Given the description of an element on the screen output the (x, y) to click on. 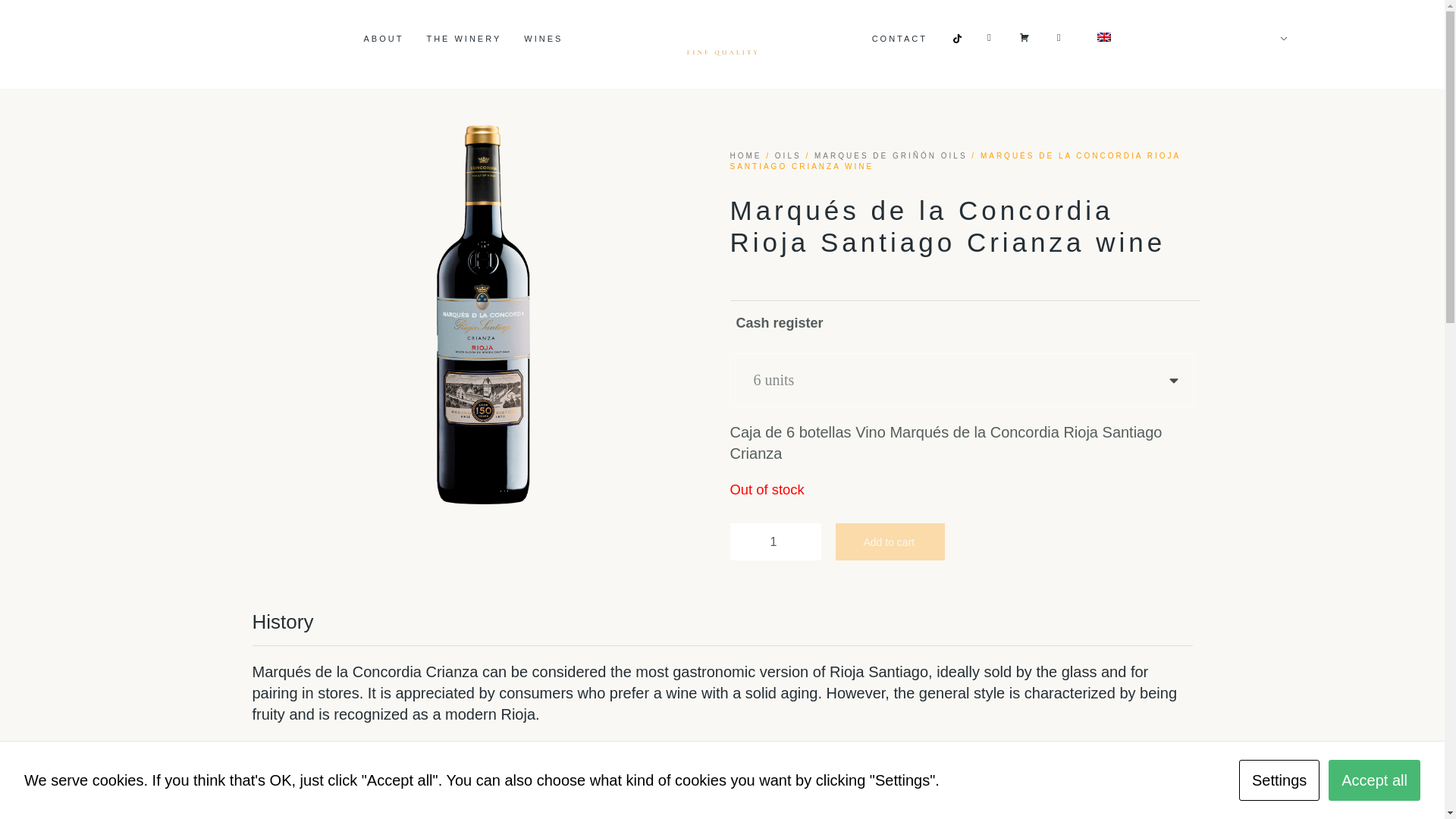
THE WINERY (463, 38)
1 (462, 44)
WINES (775, 541)
CONTACT (542, 38)
ABOUT (967, 44)
